Given the description of an element on the screen output the (x, y) to click on. 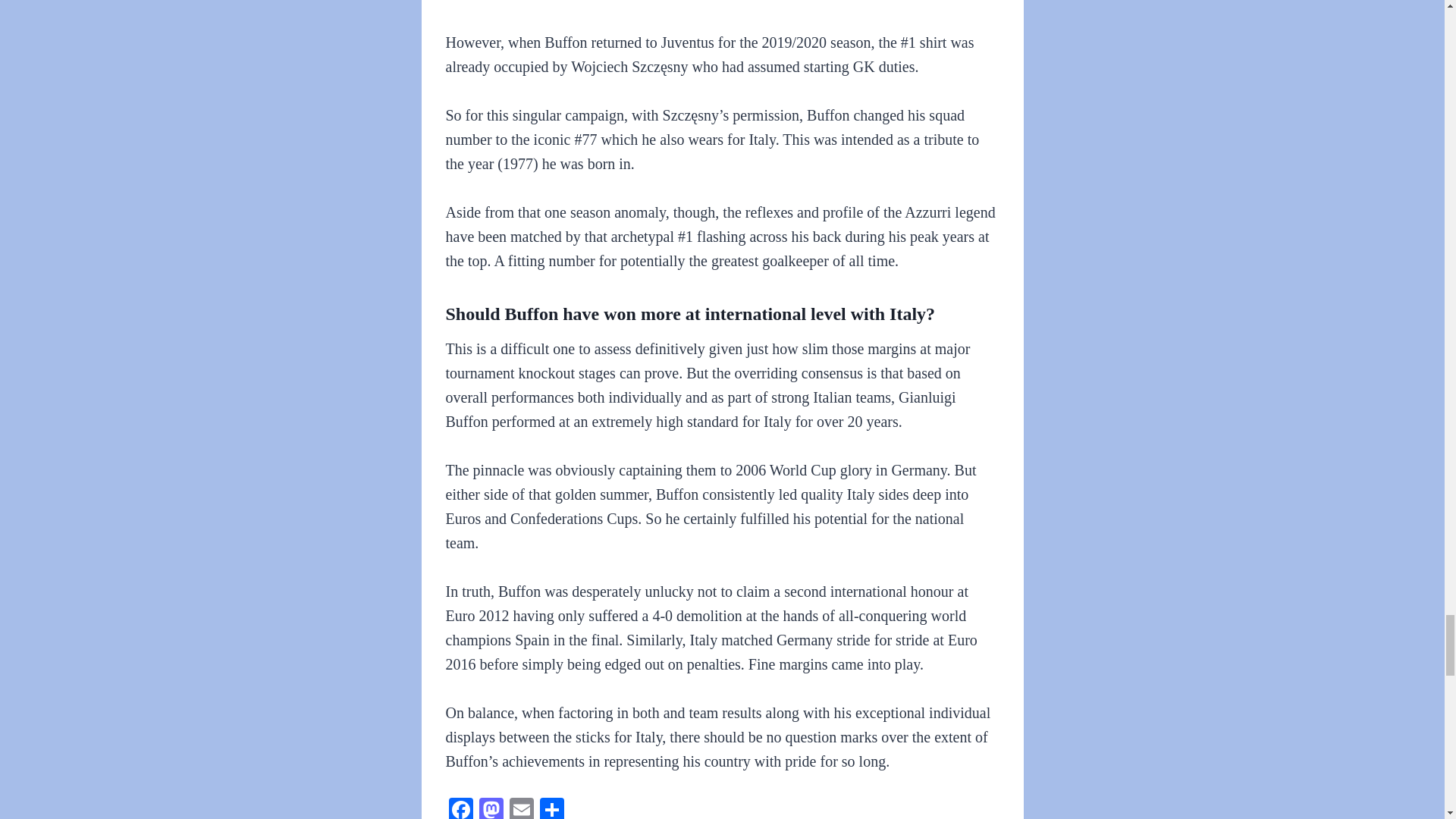
Email (521, 808)
Facebook (460, 808)
Mastodon (491, 808)
